Given the description of an element on the screen output the (x, y) to click on. 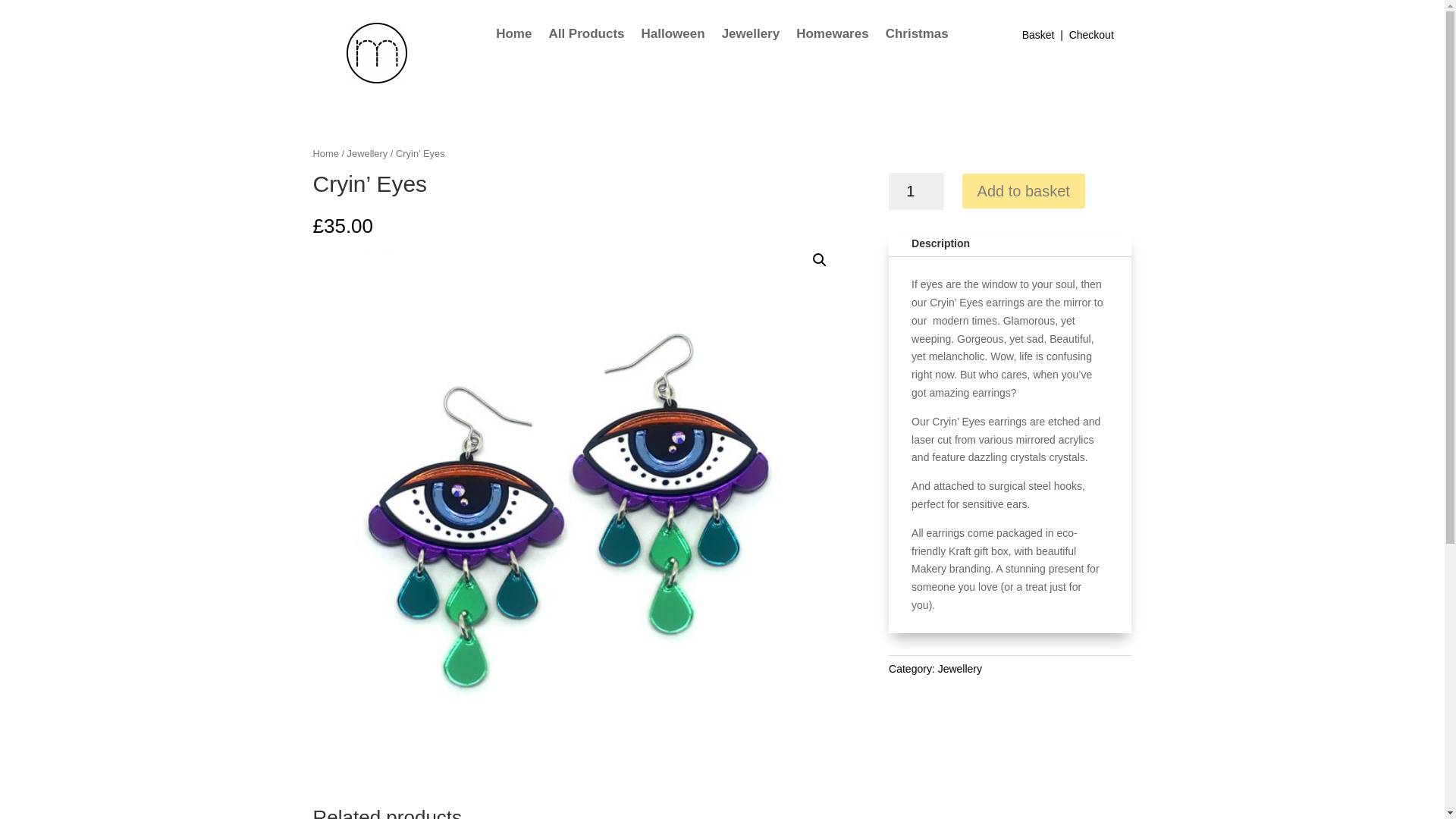
Jewellery (751, 36)
Checkout (1090, 34)
Jewellery (959, 668)
Home (513, 36)
Halloween (673, 36)
Homewares (831, 36)
Christmas (917, 36)
1 (915, 190)
Jewellery (367, 153)
